Given the description of an element on the screen output the (x, y) to click on. 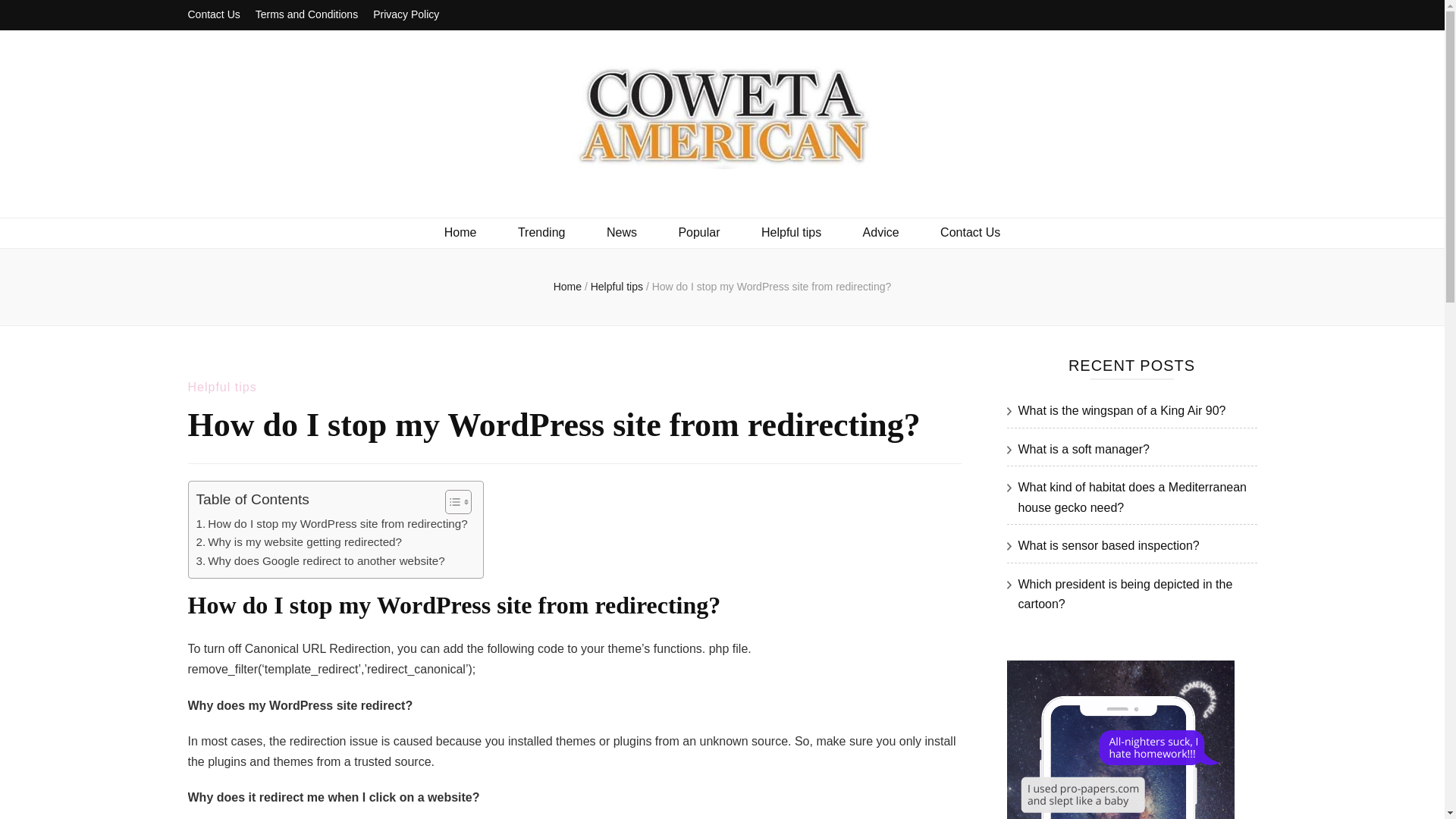
News (622, 232)
Advice (881, 232)
Contact Us (213, 15)
Trending (542, 232)
What is the wingspan of a King Air 90? (1121, 410)
Cowetaamerican.com (390, 199)
Why is my website getting redirected? (298, 542)
Helpful tips (222, 386)
Helpful tips (618, 286)
How do I stop my WordPress site from redirecting? (331, 524)
Why is my website getting redirected? (298, 542)
What kind of habitat does a Mediterranean house gecko need? (1131, 497)
What is sensor based inspection? (1107, 545)
Why does Google redirect to another website? (319, 561)
Home (460, 232)
